Given the description of an element on the screen output the (x, y) to click on. 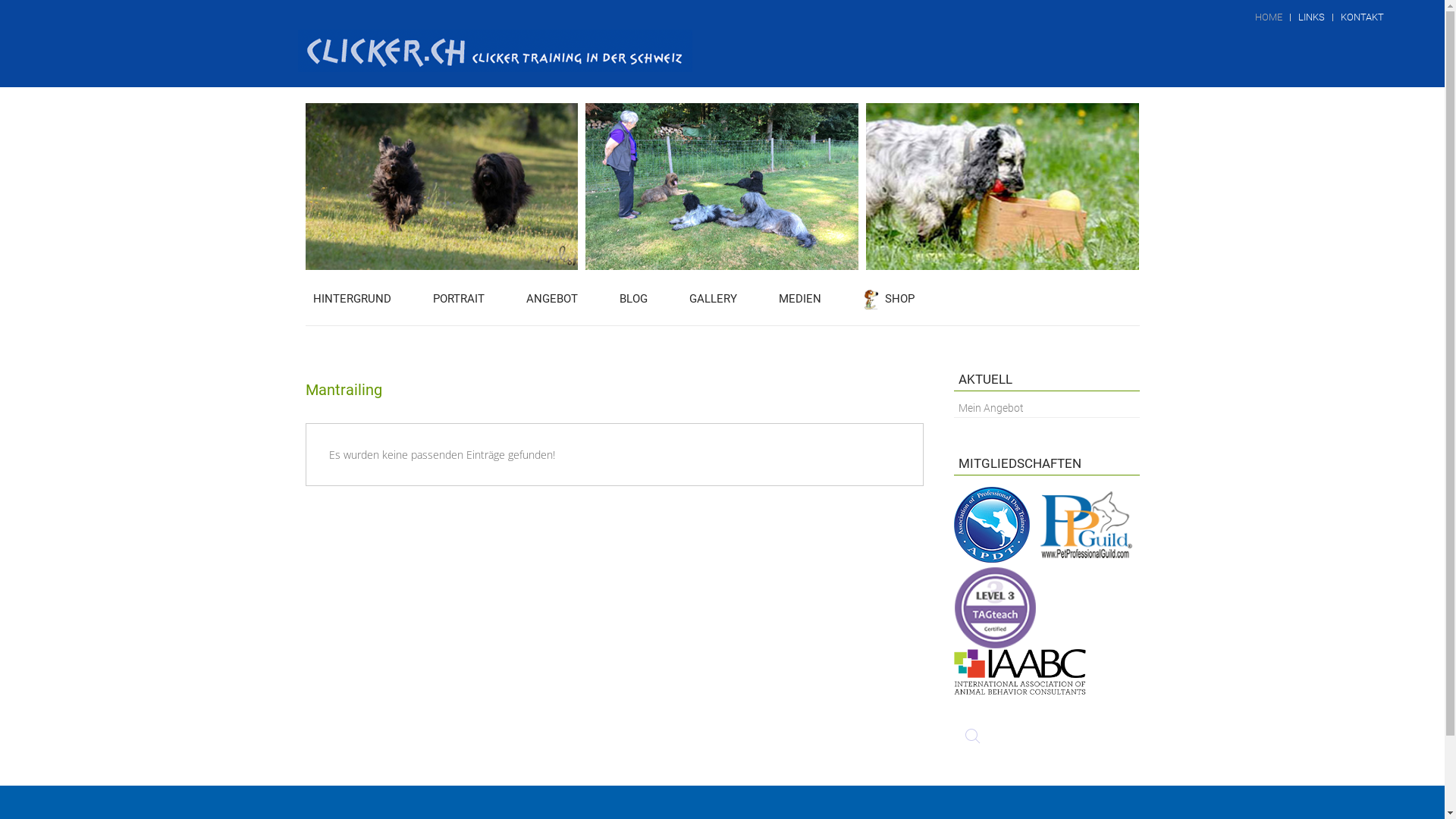
GALLERY Element type: text (712, 298)
MEDIEN Element type: text (799, 298)
ANGEBOT Element type: text (551, 298)
SHOP Element type: text (888, 298)
PORTRAIT Element type: text (457, 298)
HINTERGRUND Element type: text (351, 298)
Mein Angebot Element type: text (988, 407)
  Element type: text (1019, 637)
HOME Element type: text (1268, 17)
KONTAKT Element type: text (1361, 17)
BLOG Element type: text (632, 298)
LINKS Element type: text (1311, 17)
